Given the description of an element on the screen output the (x, y) to click on. 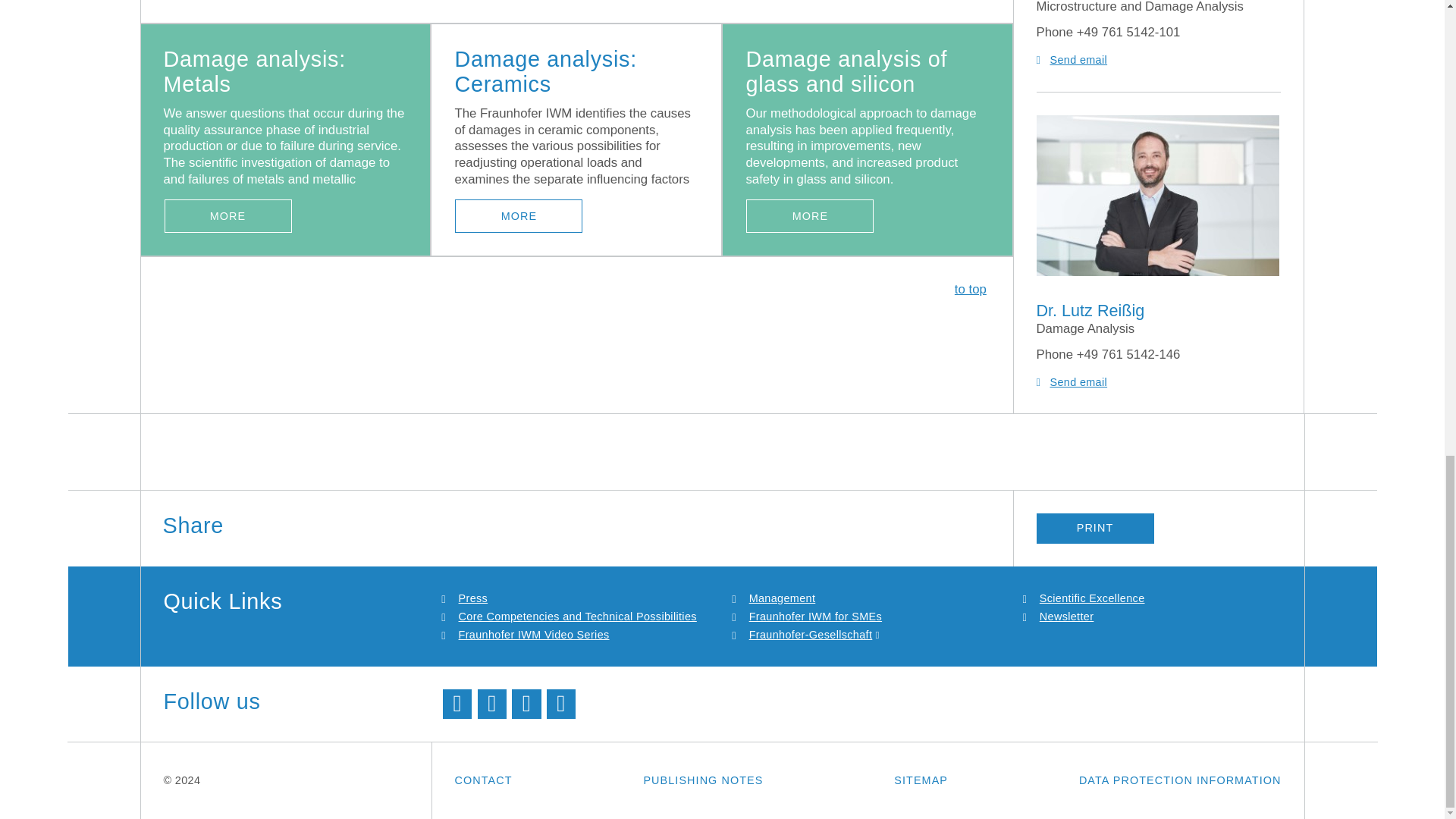
More Information (518, 215)
More Information (227, 215)
More Information (809, 215)
